Given the description of an element on the screen output the (x, y) to click on. 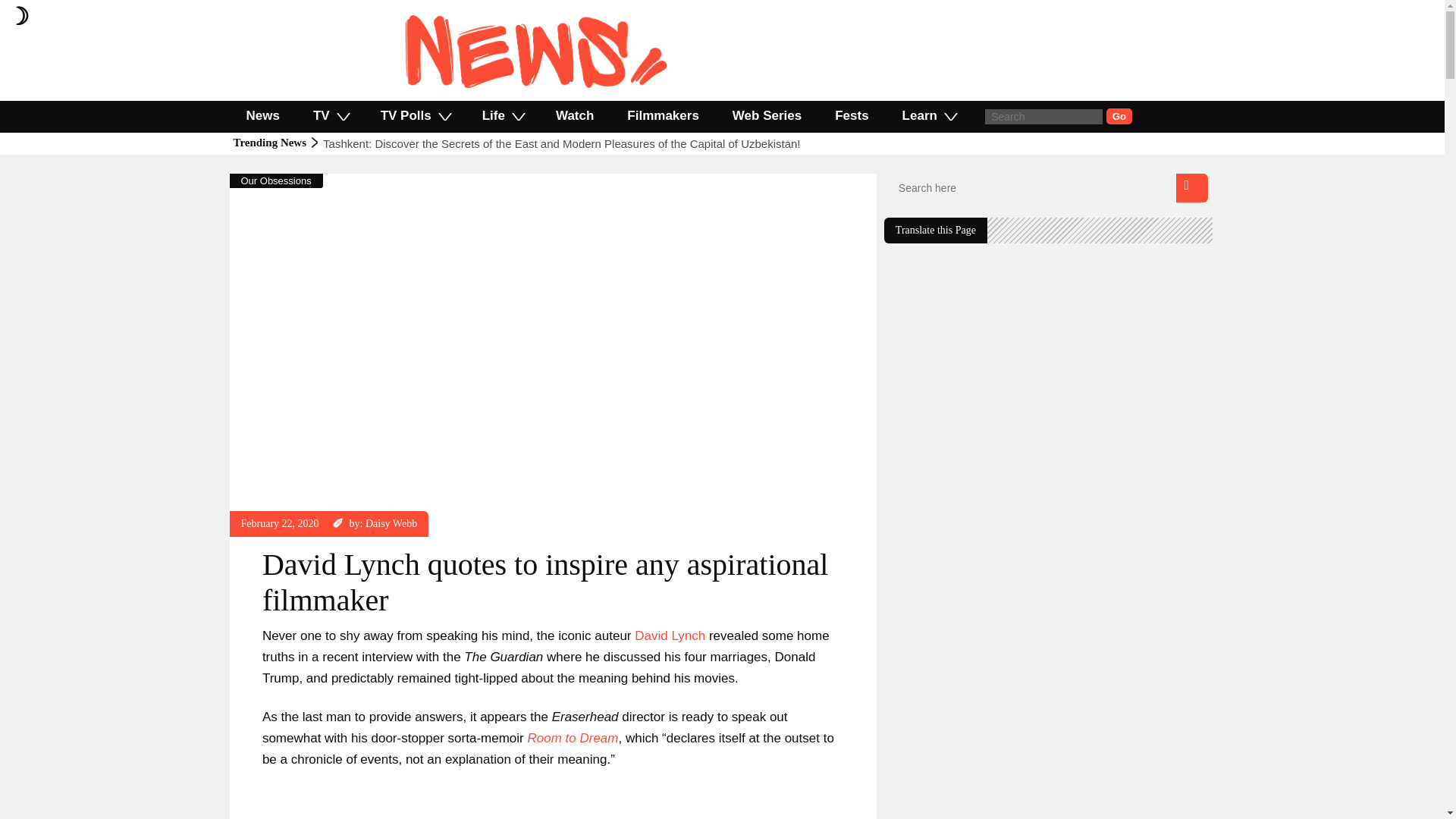
Go (1119, 116)
Our Obsessions (276, 180)
TV Polls (414, 115)
Fests (851, 115)
TV (330, 115)
Filmmakers (663, 115)
Life (501, 115)
Watch (574, 115)
Go (1119, 116)
